Given the description of an element on the screen output the (x, y) to click on. 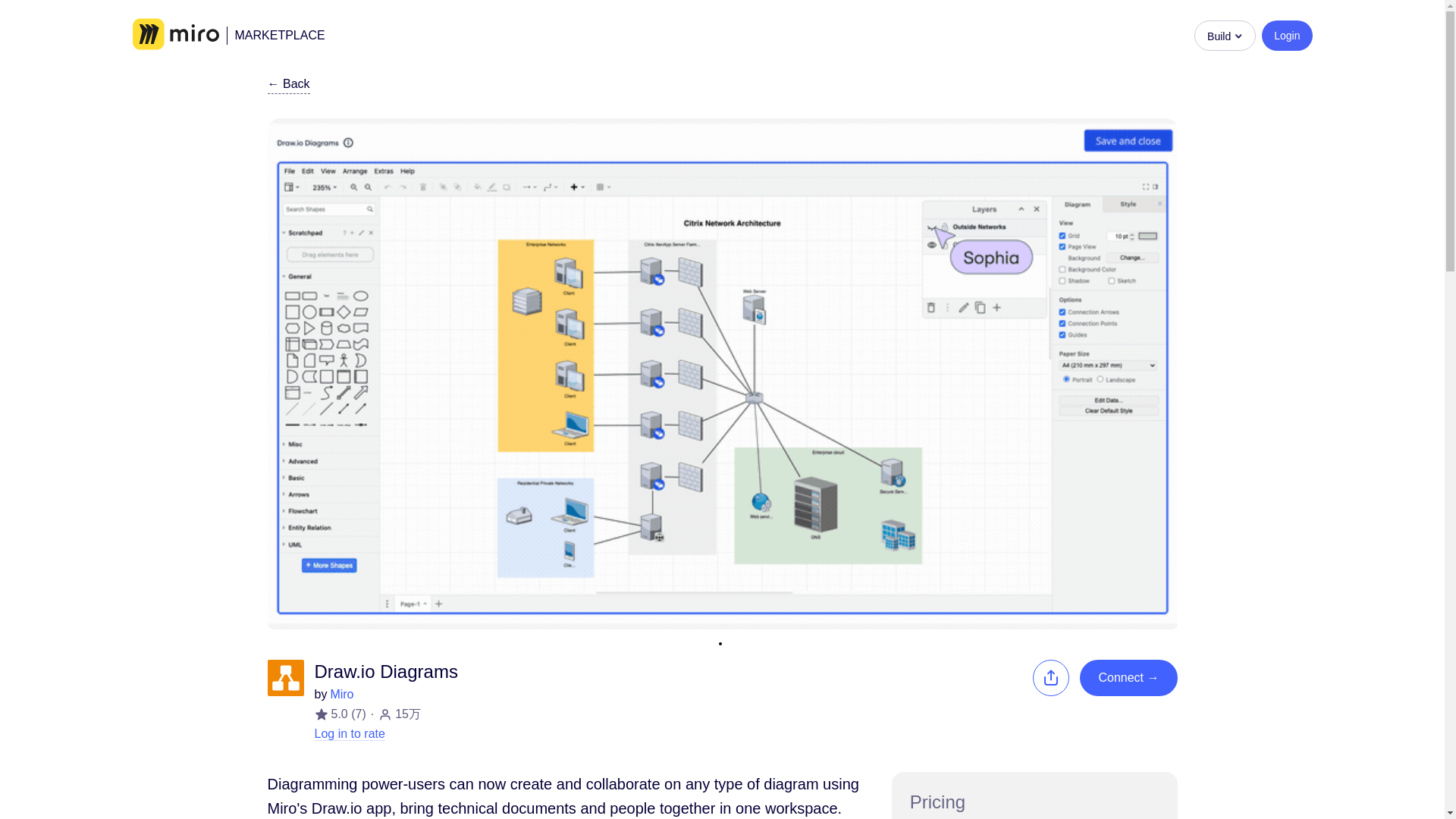
Miro (341, 694)
Log in to rate (349, 734)
Build (1224, 34)
Miro (175, 35)
Login (1286, 34)
MARKETPLACE (274, 34)
Miro App Marketplace (274, 34)
